Given the description of an element on the screen output the (x, y) to click on. 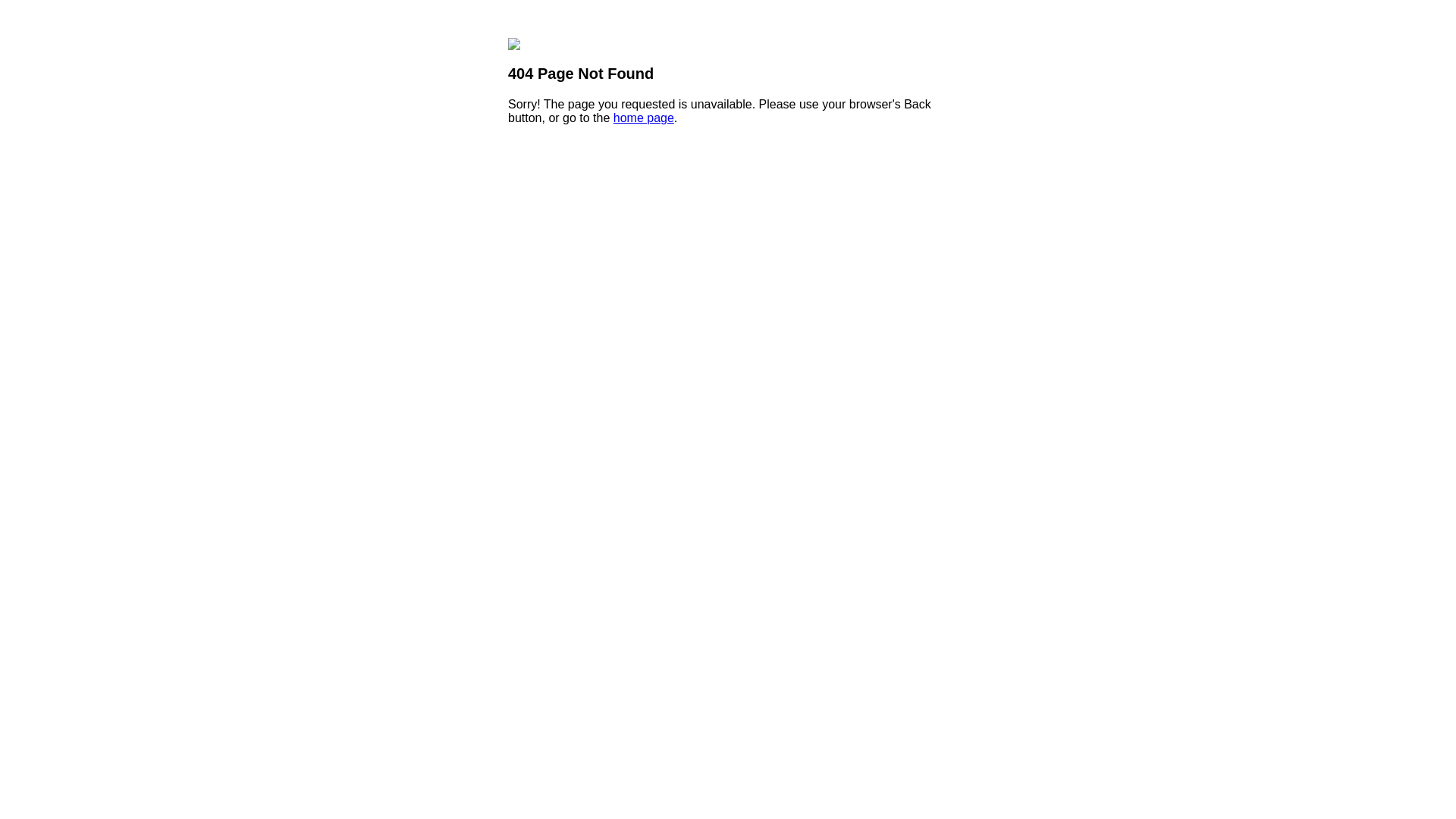
home page Element type: text (643, 117)
